Given the description of an element on the screen output the (x, y) to click on. 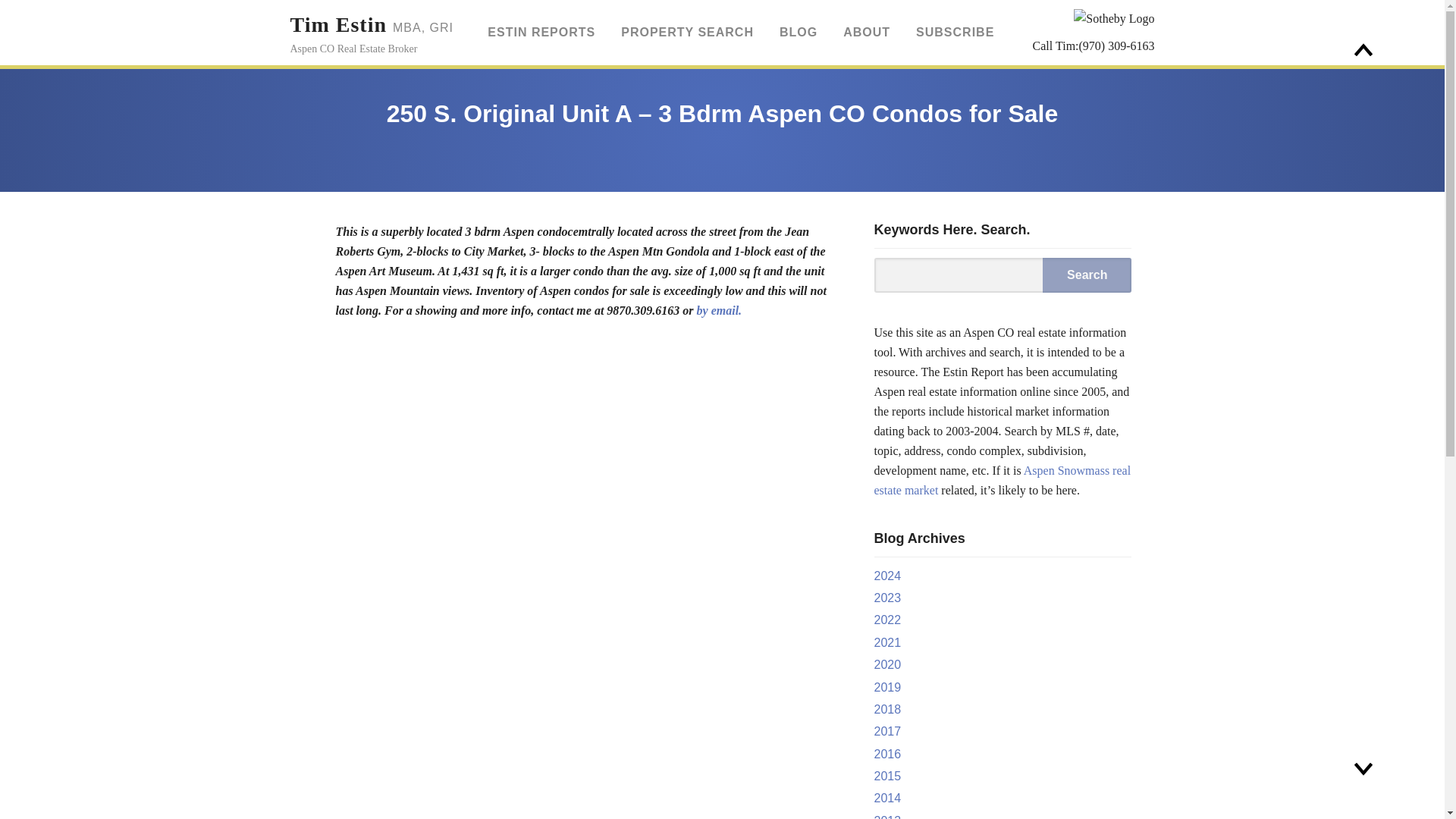
2023 (887, 597)
Call Tim Estin Phone Icon (1023, 45)
2020 (887, 664)
ESTIN REPORTS (541, 32)
ABOUT (866, 32)
Search (1086, 274)
2024 (887, 575)
2021 (887, 642)
Search (370, 32)
by email. (1086, 274)
BLOG (719, 309)
SUBSCRIBE (798, 32)
2019 (949, 32)
2022 (887, 686)
